Given the description of an element on the screen output the (x, y) to click on. 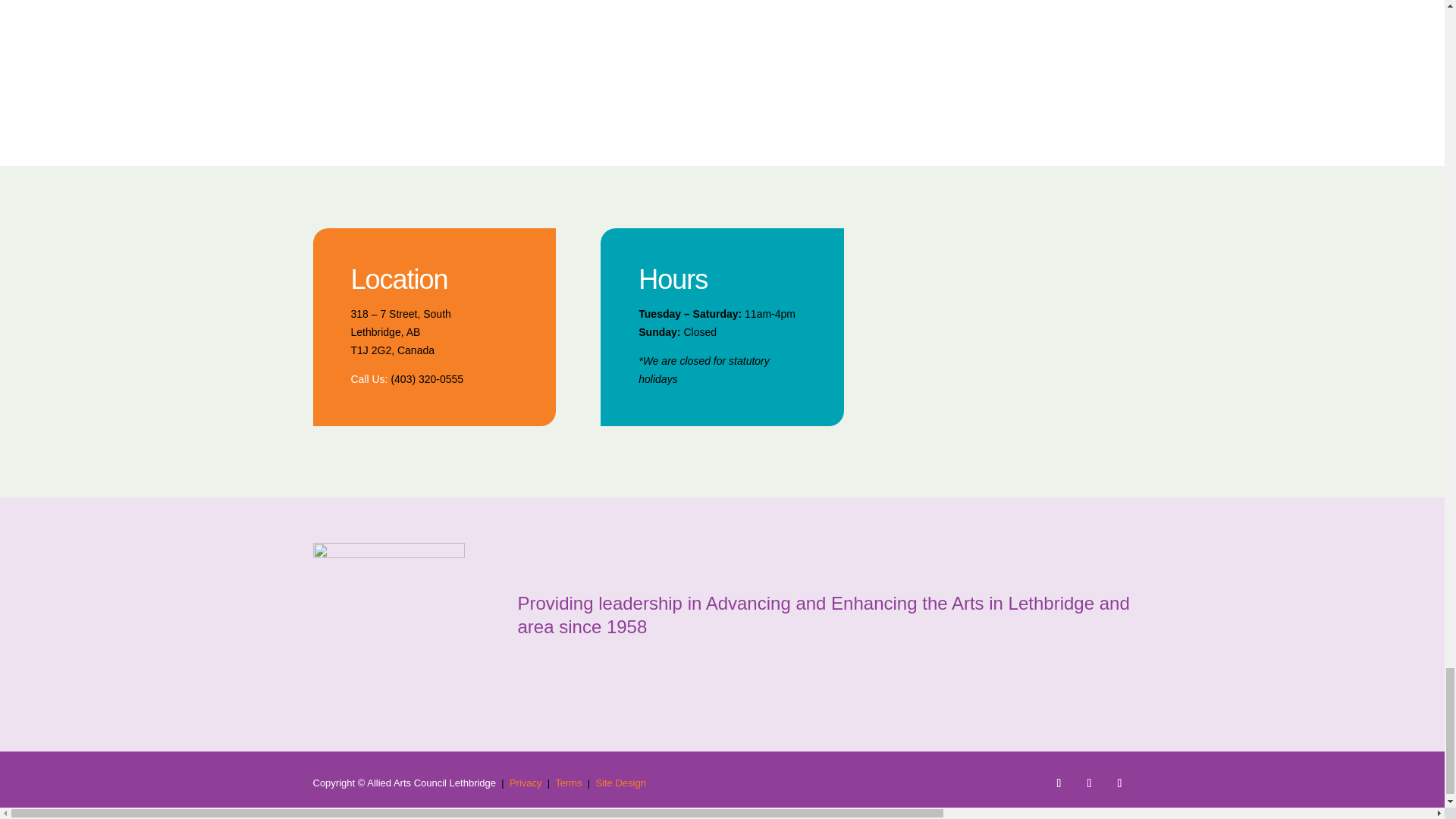
Follow on Facebook (1058, 783)
Rozsa Foundation (1055, 48)
AAC-Logo-200-colour (388, 623)
Follow on Instagram (1118, 783)
Follow on X (1088, 783)
cflsa-logo190 (613, 10)
